Given the description of an element on the screen output the (x, y) to click on. 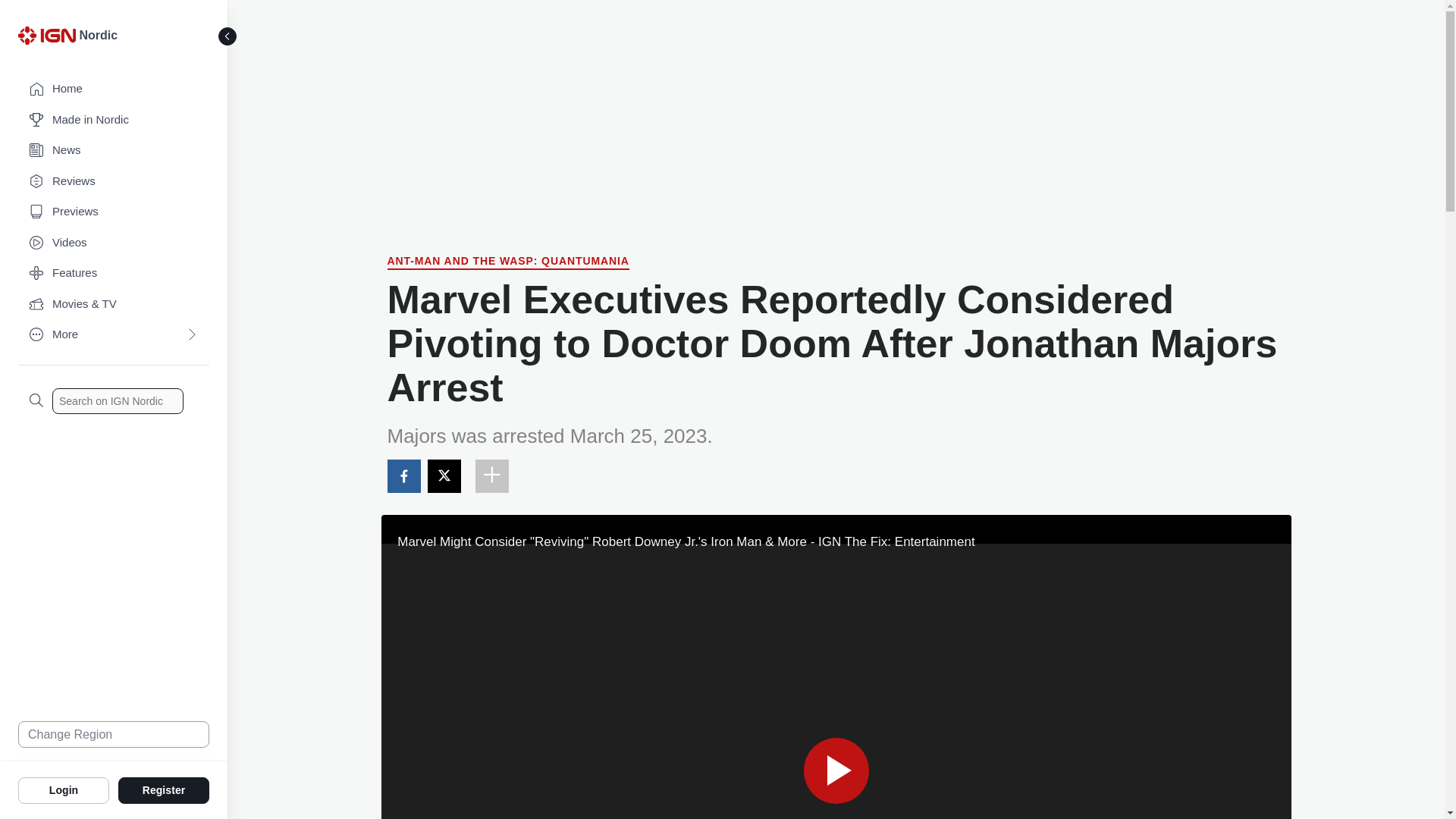
IGN Logo (48, 39)
Ant-Man and the Wasp: Quantumania (507, 262)
Toggle Sidebar (226, 36)
Made in Nordic (113, 119)
Videos (113, 242)
More (113, 334)
Register (163, 789)
Previews (113, 211)
Login (63, 789)
Features (113, 273)
